Given the description of an element on the screen output the (x, y) to click on. 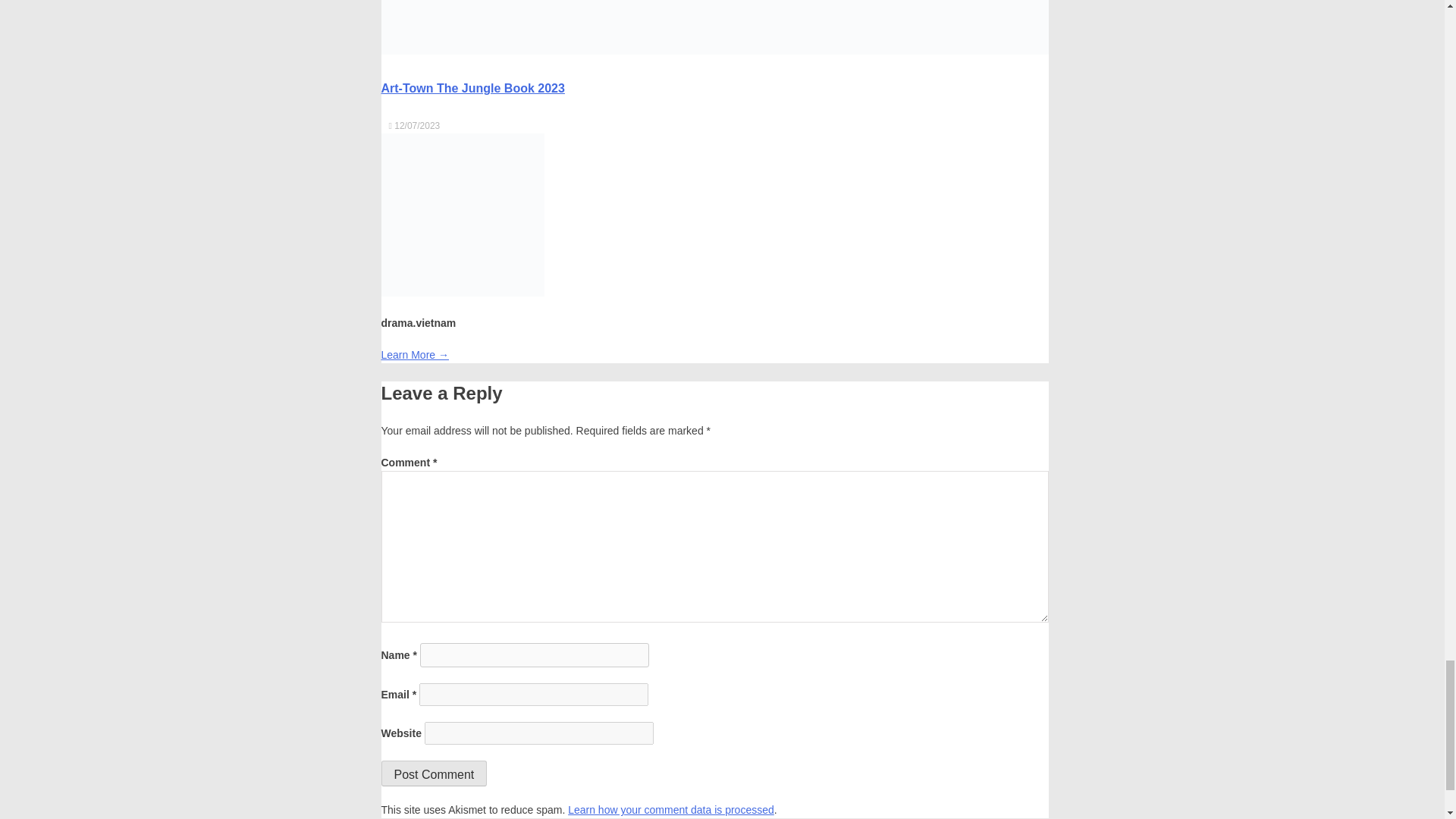
Post Comment (433, 773)
